Given the description of an element on the screen output the (x, y) to click on. 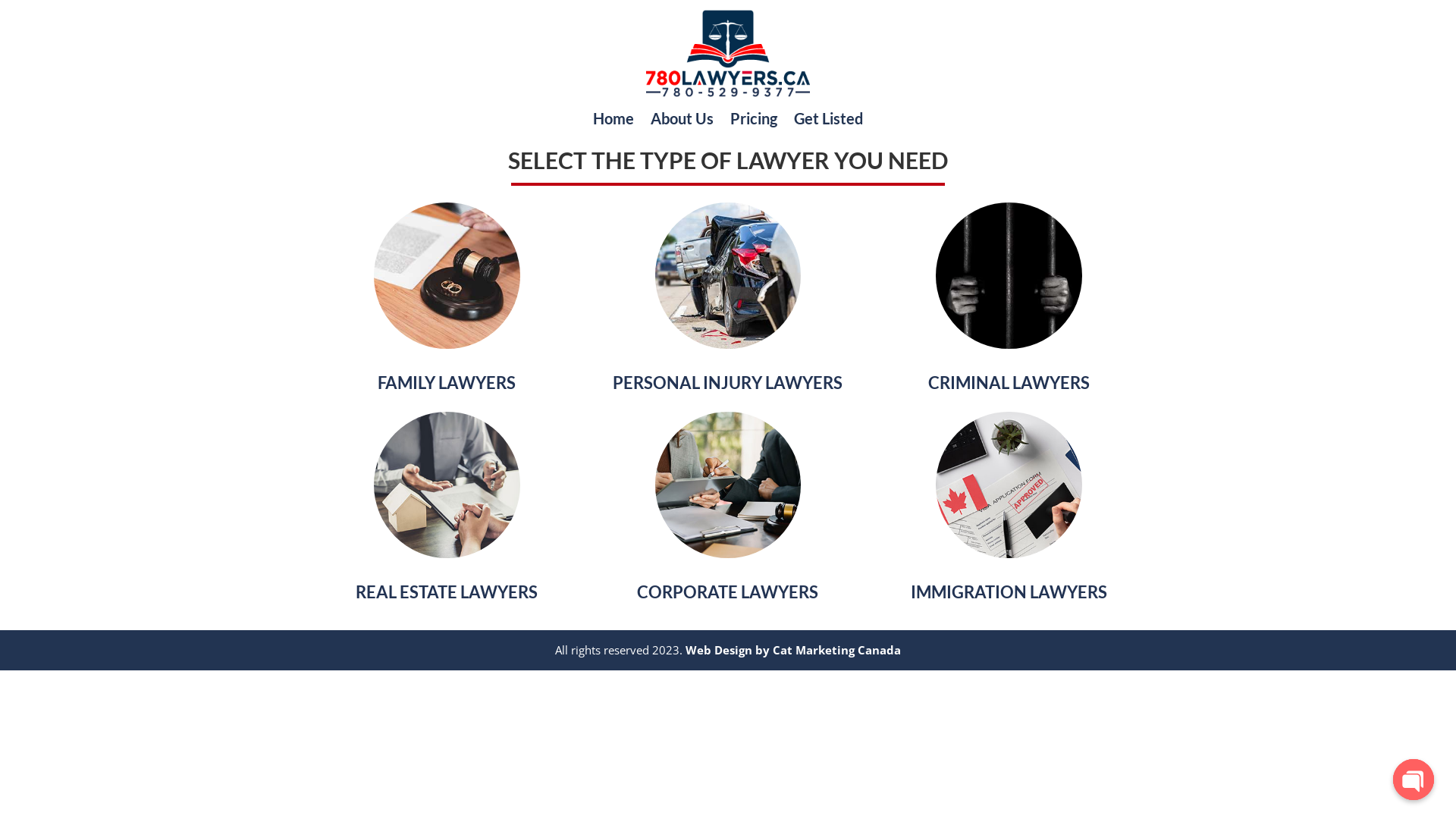
Get Listed Element type: text (827, 120)
Web Design by Cat Marketing Canada Element type: text (792, 649)
About Us Element type: text (681, 120)
Real-Estate-Lawyers 780-LAWYERS Element type: hover (446, 484)
Family-Law2 Element type: hover (446, 275)
780LAWYERS logo web Element type: hover (727, 53)
Criminal-Law Element type: hover (1008, 275)
Home Element type: text (613, 120)
Immigration-Lawyers 780-LAWYERS Element type: hover (1008, 484)
Corporate Lawyers 780-LAWYERS Element type: hover (728, 484)
Pricing Element type: text (753, 120)
Personal-Injury3 Element type: hover (728, 275)
